Given the description of an element on the screen output the (x, y) to click on. 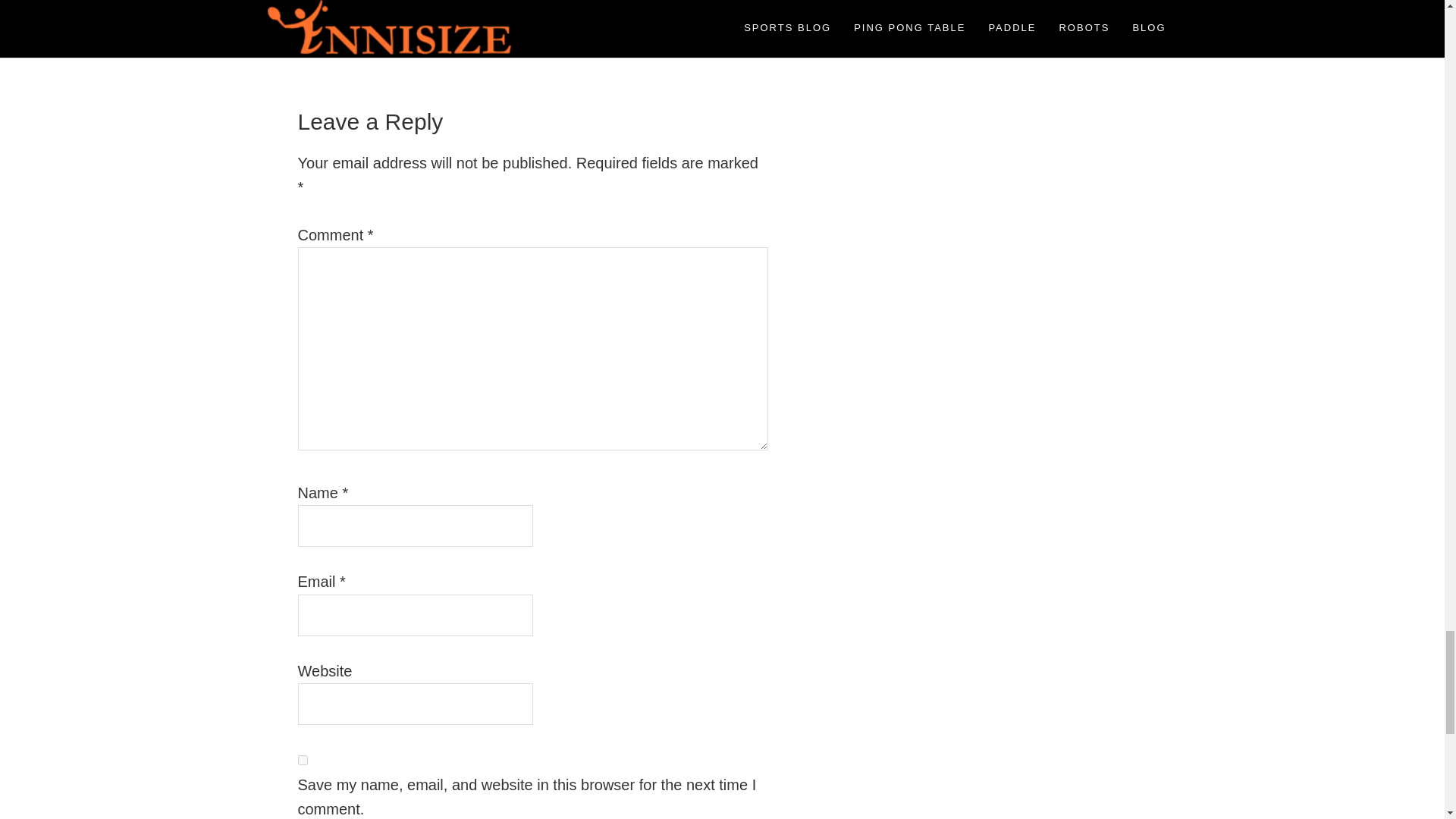
yes (302, 759)
